Given the description of an element on the screen output the (x, y) to click on. 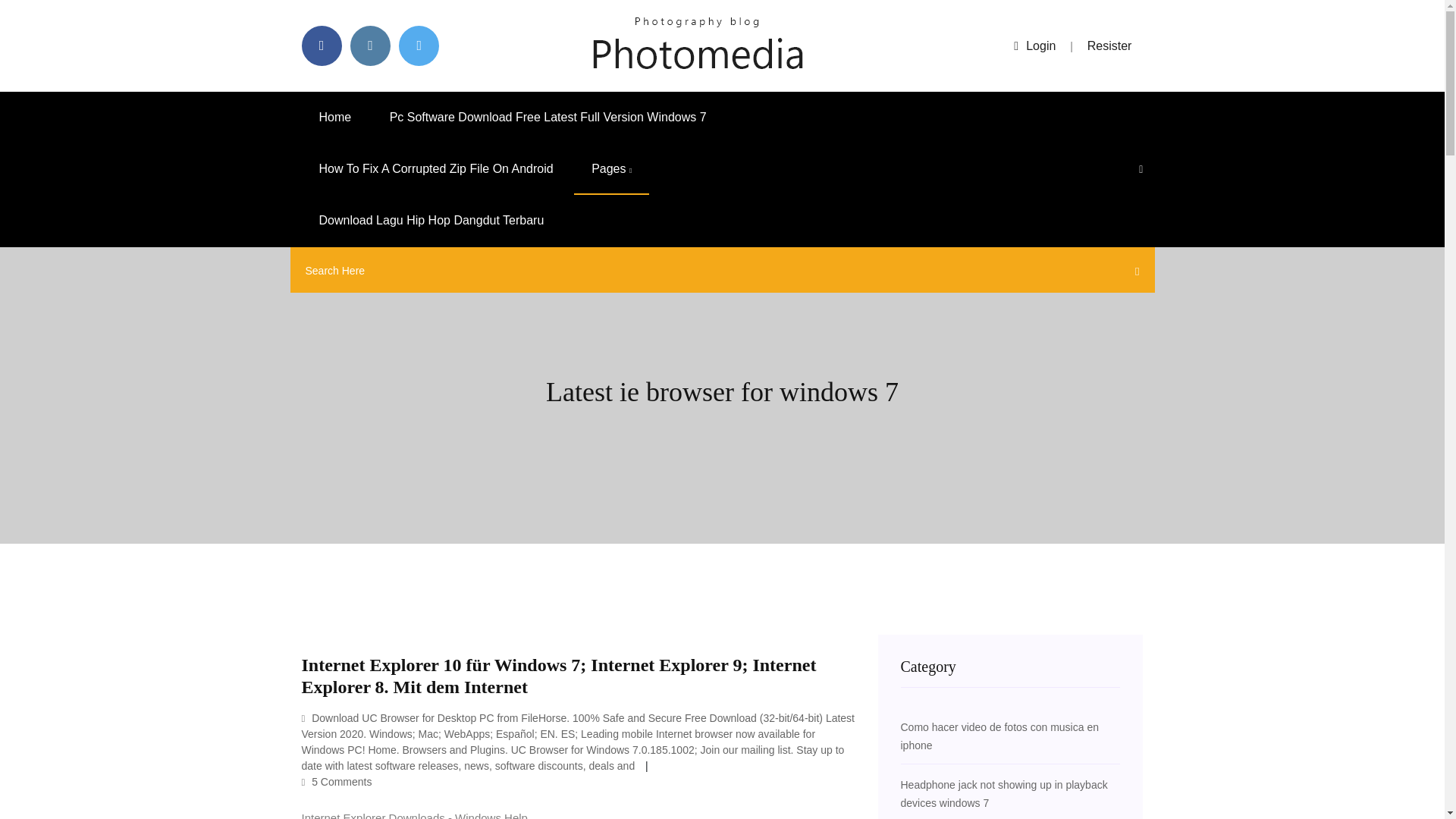
5 Comments (336, 781)
Pc Software Download Free Latest Full Version Windows 7 (547, 117)
How To Fix A Corrupted Zip File On Android (435, 168)
Download Lagu Hip Hop Dangdut Terbaru (431, 220)
Pages (611, 168)
Login (1034, 45)
Resister (1109, 45)
Home (335, 117)
